Given the description of an element on the screen output the (x, y) to click on. 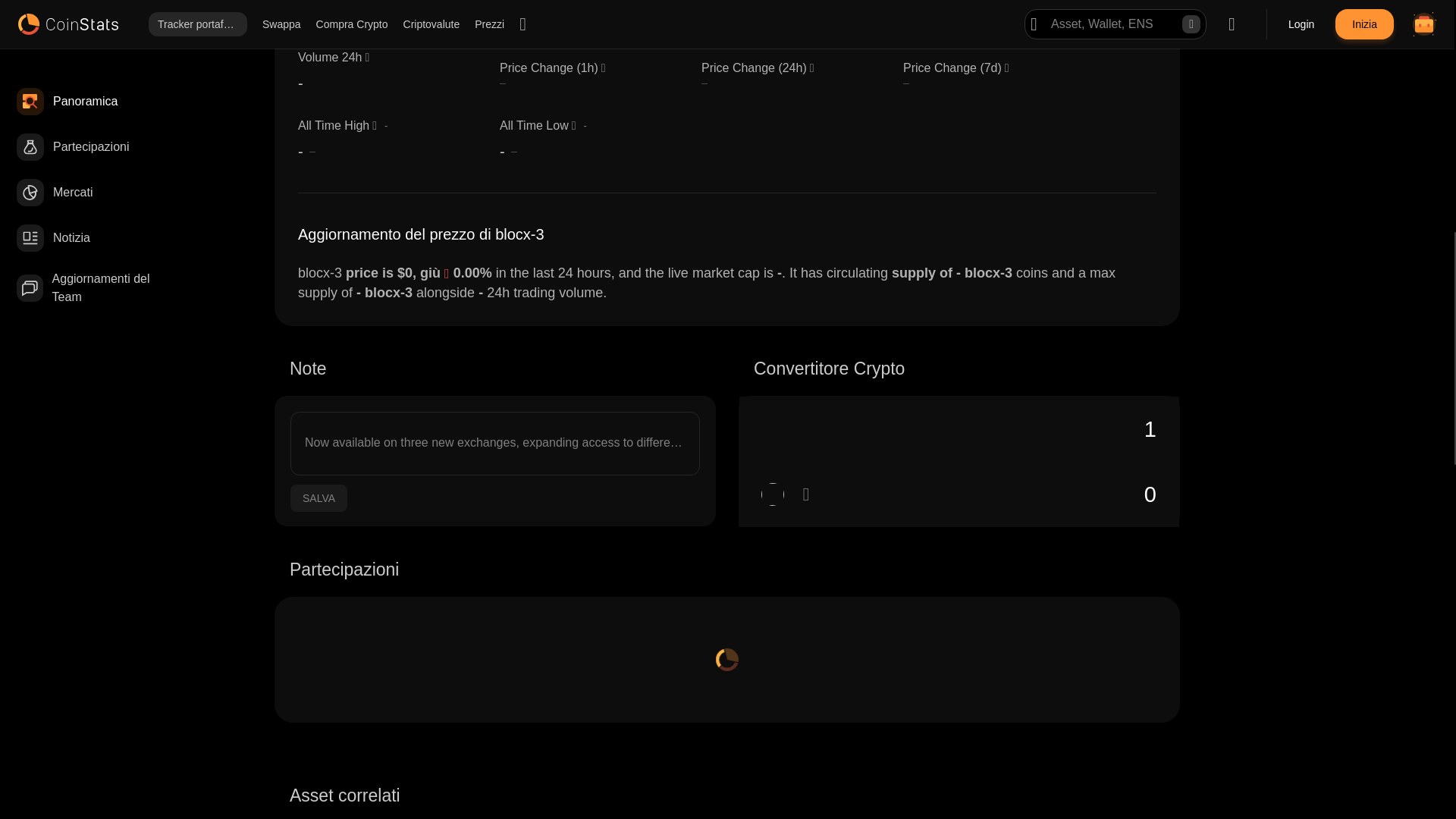
1 (959, 428)
0 (958, 494)
